Given the description of an element on the screen output the (x, y) to click on. 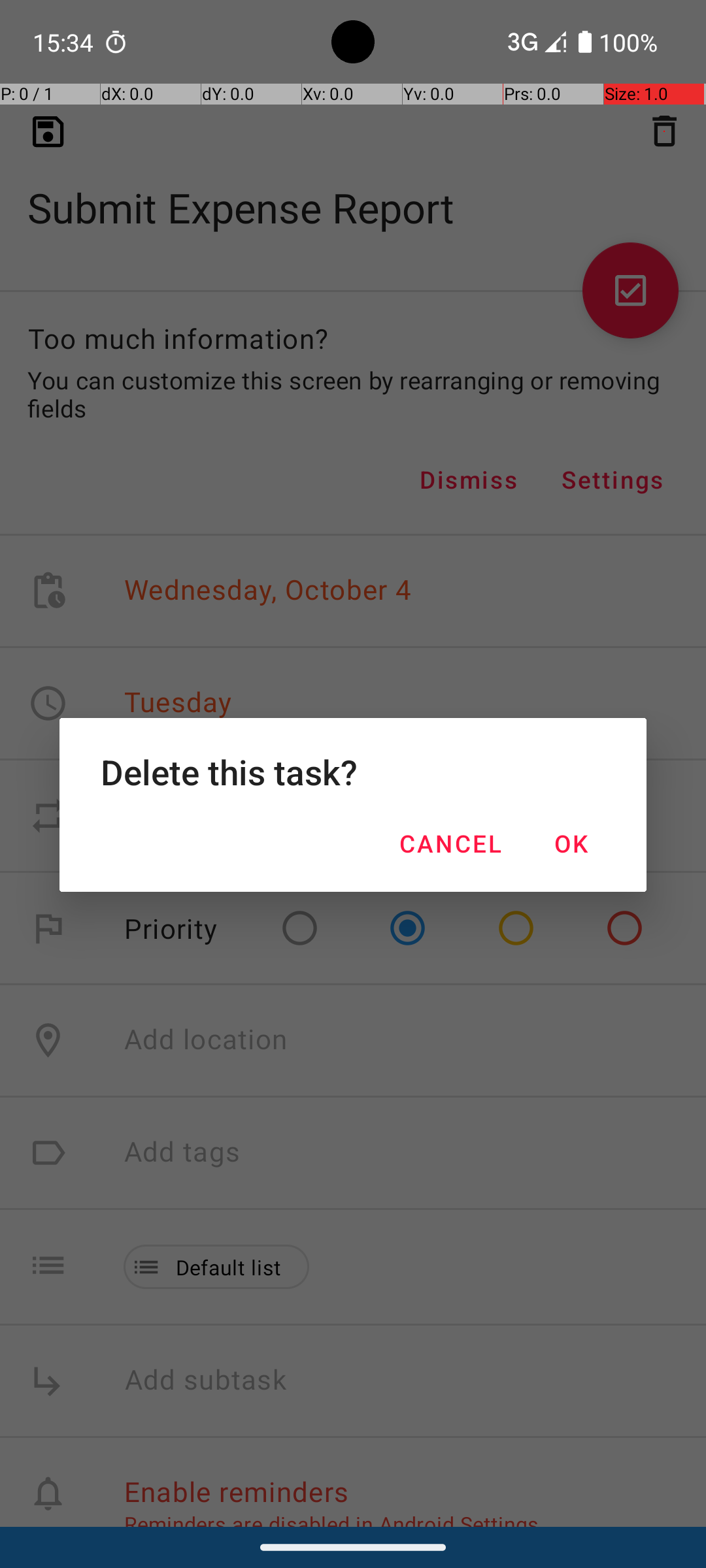
Delete this task? Element type: android.widget.TextView (352, 771)
